Given the description of an element on the screen output the (x, y) to click on. 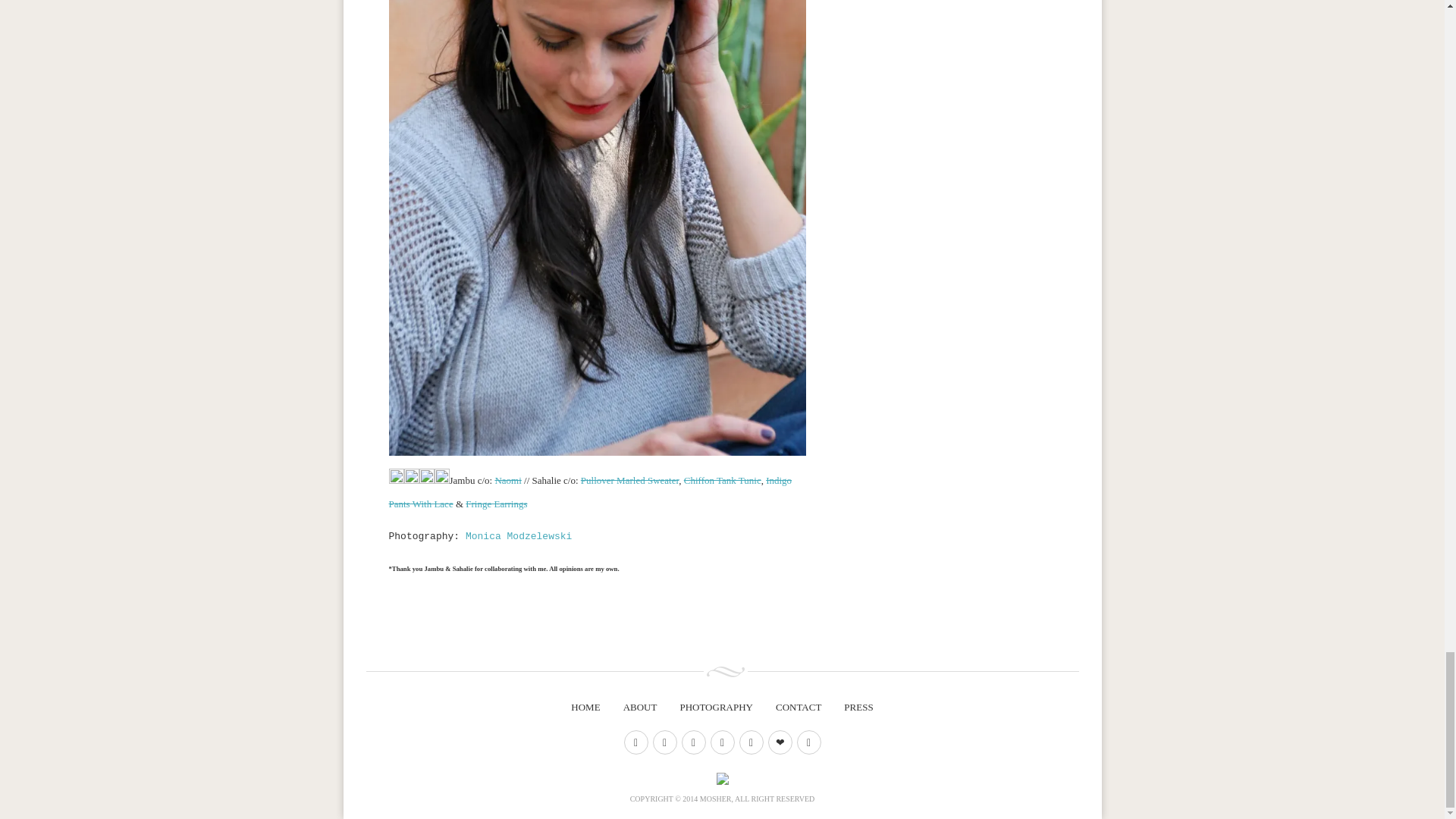
Indigo Pants With Lace (590, 492)
Naomi (508, 480)
Chiffon Tank Tunic (722, 480)
Pullover Marled Sweater (629, 480)
Monica Modzelewski (518, 536)
Fringe Earrings (496, 503)
